Given the description of an element on the screen output the (x, y) to click on. 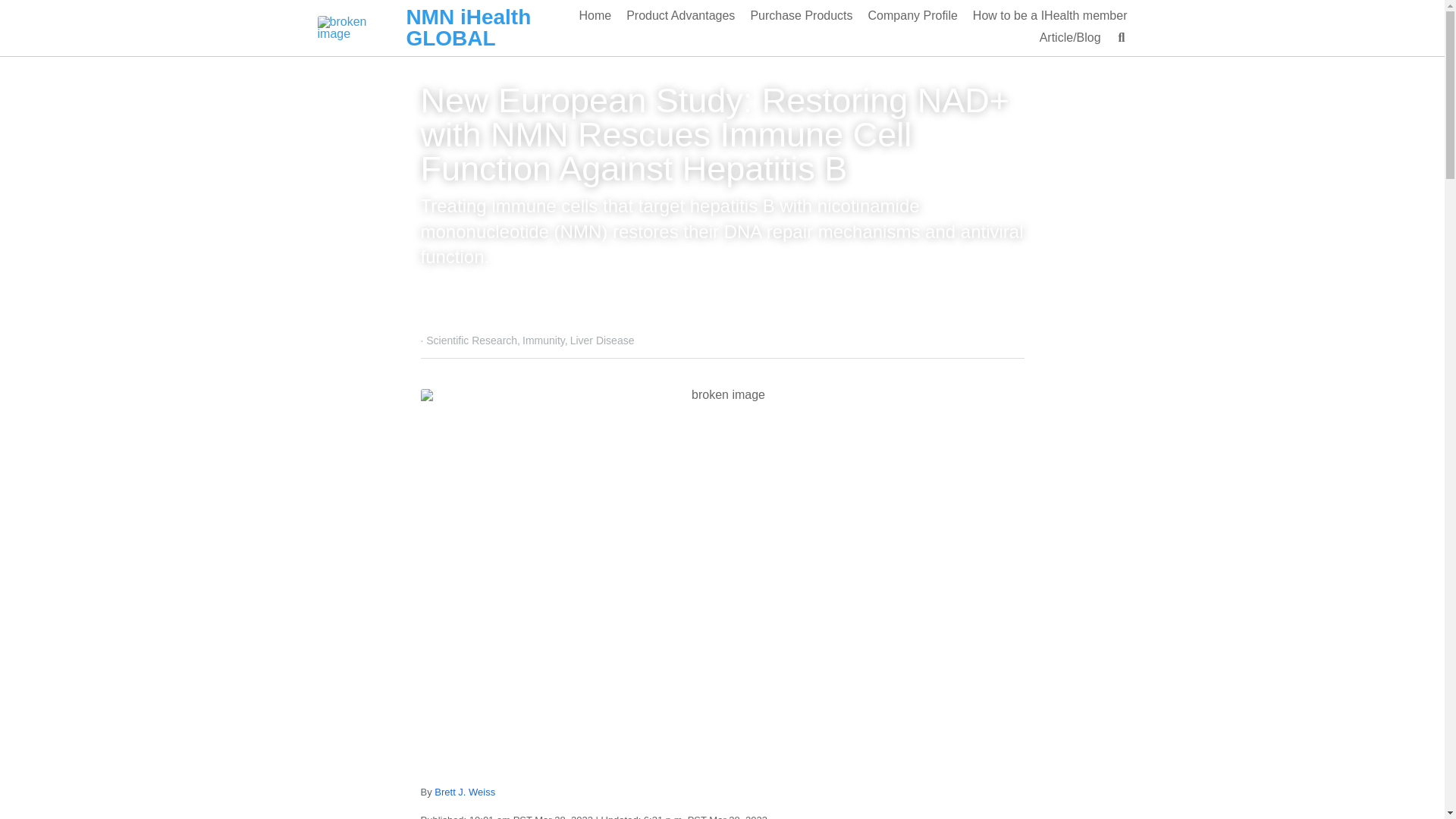
Home (594, 15)
How to be a IHealth member (1049, 15)
Purchase Products (800, 15)
Product Advantages (680, 15)
Company Profile (912, 15)
